Given the description of an element on the screen output the (x, y) to click on. 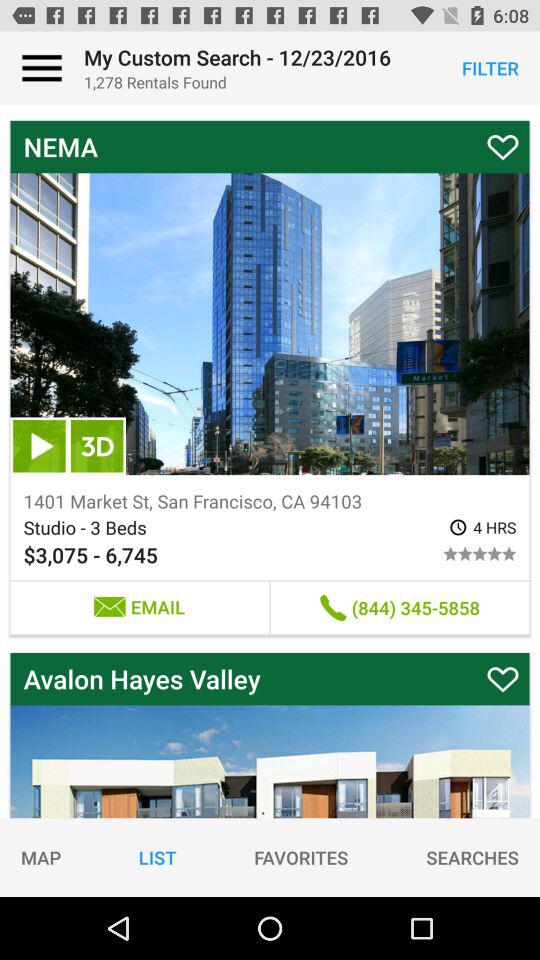
launch item next to the map icon (157, 857)
